Given the description of an element on the screen output the (x, y) to click on. 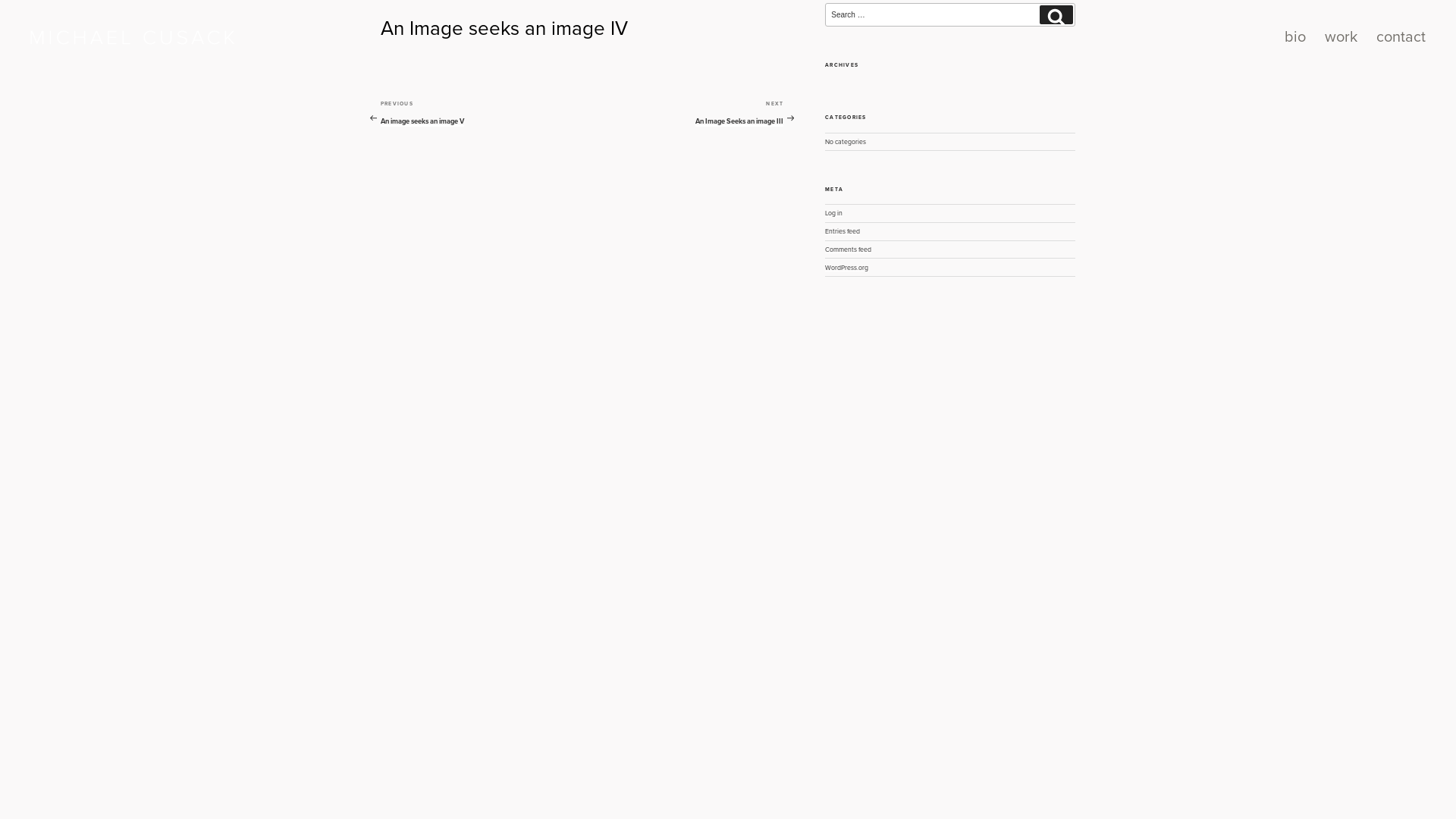
Previous Post
PREVIOUS
An image seeks an image V Element type: text (481, 113)
WordPress.org Element type: text (846, 267)
Comments feed Element type: text (848, 249)
Log in Element type: text (833, 212)
bio Element type: text (1294, 36)
work Element type: text (1340, 36)
Entries feed Element type: text (842, 231)
Search Element type: text (1056, 14)
contact Element type: text (1400, 36)
Next Post
NEXT
An Image Seeks an image III Element type: text (683, 113)
